Given the description of an element on the screen output the (x, y) to click on. 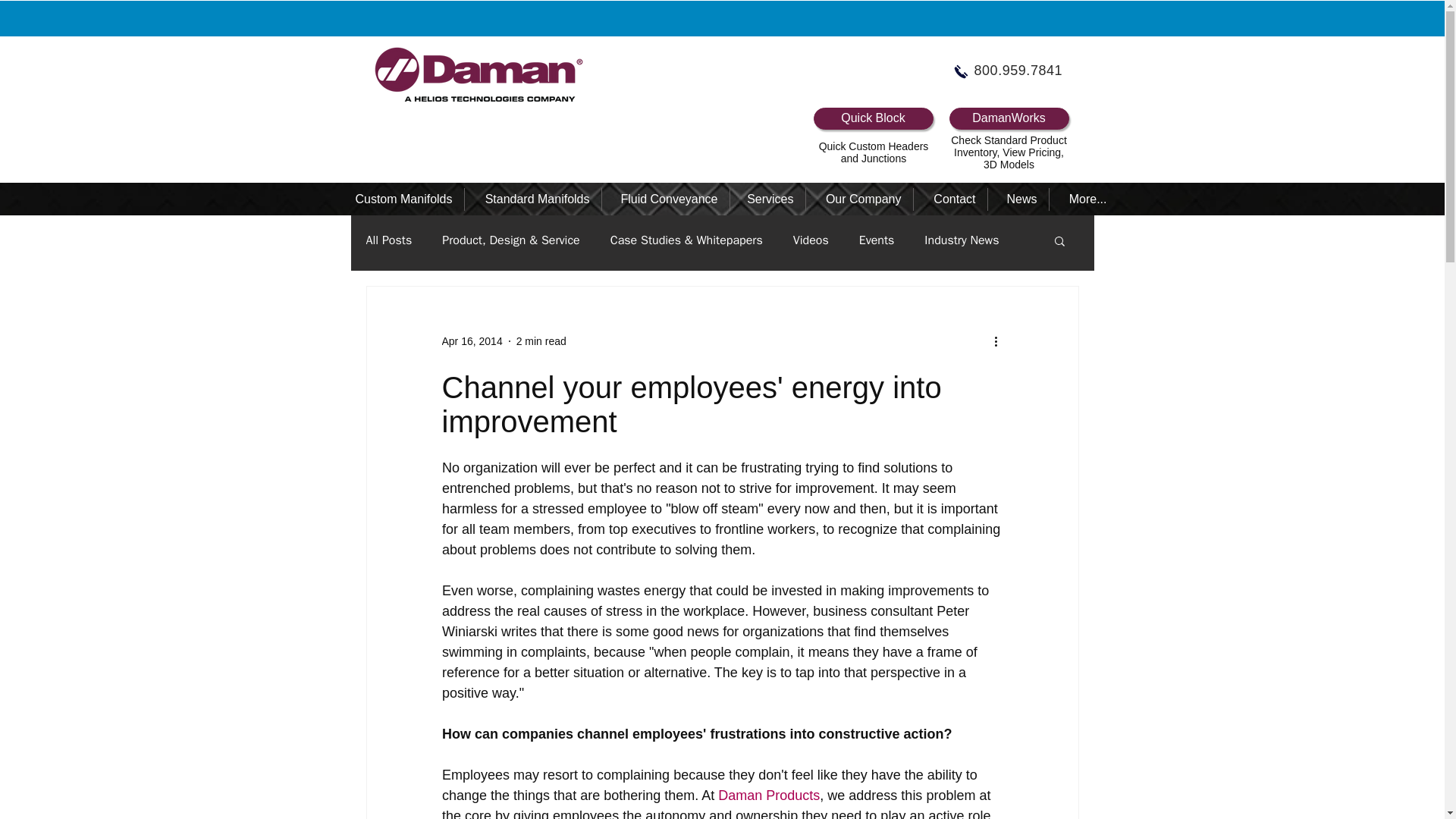
Quick Block (872, 118)
2 min read (541, 340)
DamanWorks (1008, 118)
Apr 16, 2014 (471, 340)
Standard Manifolds (532, 199)
Fluid Conveyance (664, 199)
Services (767, 199)
Custom Manifolds (397, 199)
